Given the description of an element on the screen output the (x, y) to click on. 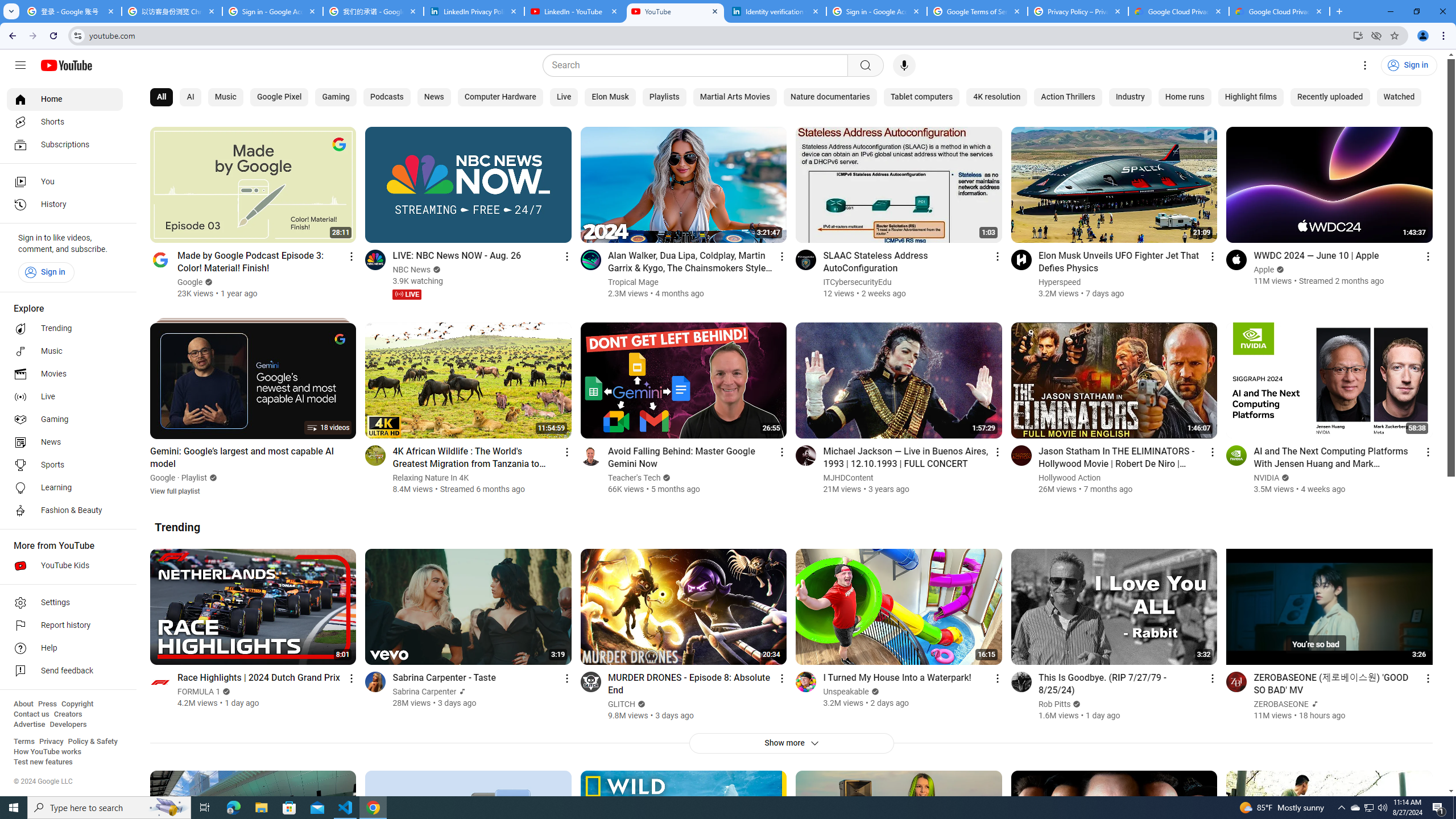
Music (225, 97)
YouTube (675, 11)
Gaming (64, 419)
MJHDContent (848, 477)
Live (563, 97)
How YouTube works (47, 751)
Google Cloud Privacy Notice (1178, 11)
Tablet computers (921, 97)
